Given the description of an element on the screen output the (x, y) to click on. 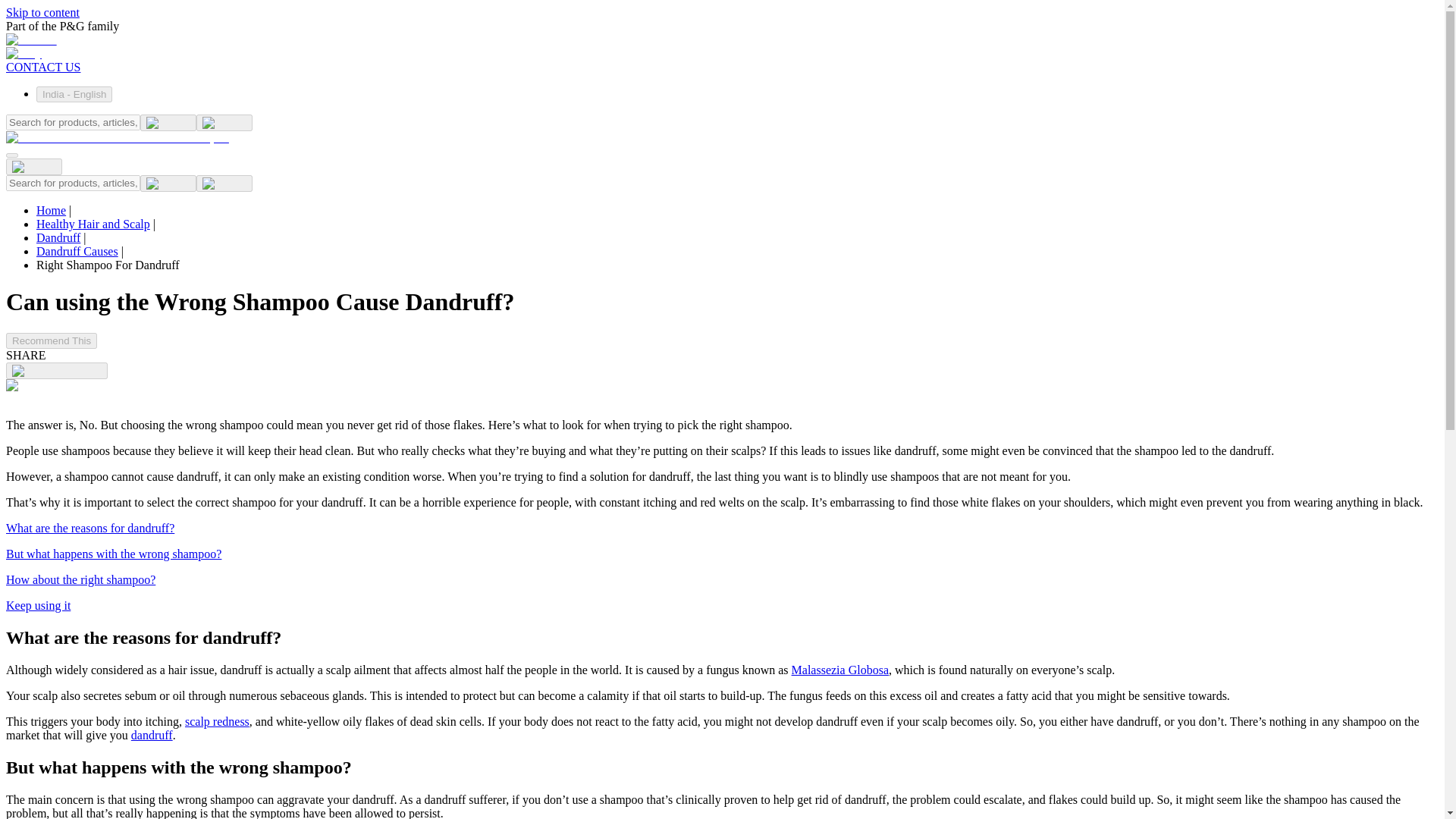
Pantene (30, 39)
Skip to content (42, 11)
Right Shampoo For Dandruff (107, 264)
Malassezia Globosa (840, 669)
Home (50, 210)
Home (50, 210)
Dandruff Causes (76, 250)
Healthy Hair and Scalp (92, 223)
Right Shampoo For Dandruff (107, 264)
But what happens with the wrong shampoo? (113, 553)
